Given the description of an element on the screen output the (x, y) to click on. 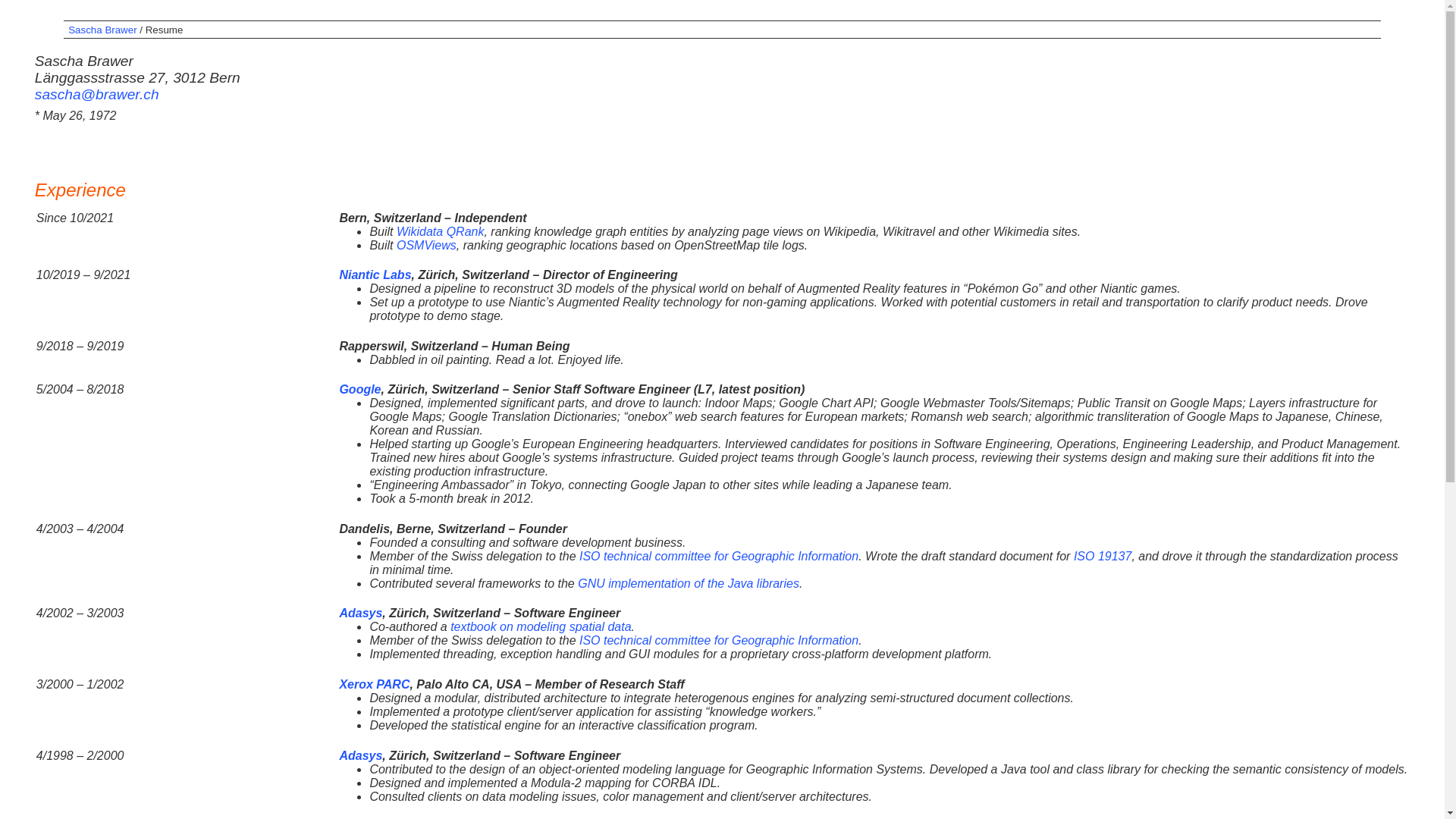
Adasys Element type: text (360, 755)
Adasys Element type: text (360, 612)
Sascha Brawer Element type: text (102, 29)
Niantic Labs Element type: text (374, 274)
ISO technical committee for Geographic Information Element type: text (718, 639)
sascha@brawer.ch Element type: text (96, 94)
ISO 19137 Element type: text (1102, 555)
Google Element type: text (359, 388)
OSMViews Element type: text (426, 244)
GNU implementation of the Java libraries Element type: text (688, 583)
textbook on modeling spatial data Element type: text (540, 626)
Wikidata QRank Element type: text (439, 231)
ISO technical committee for Geographic Information Element type: text (718, 555)
Xerox PARC Element type: text (373, 683)
